Given the description of an element on the screen output the (x, y) to click on. 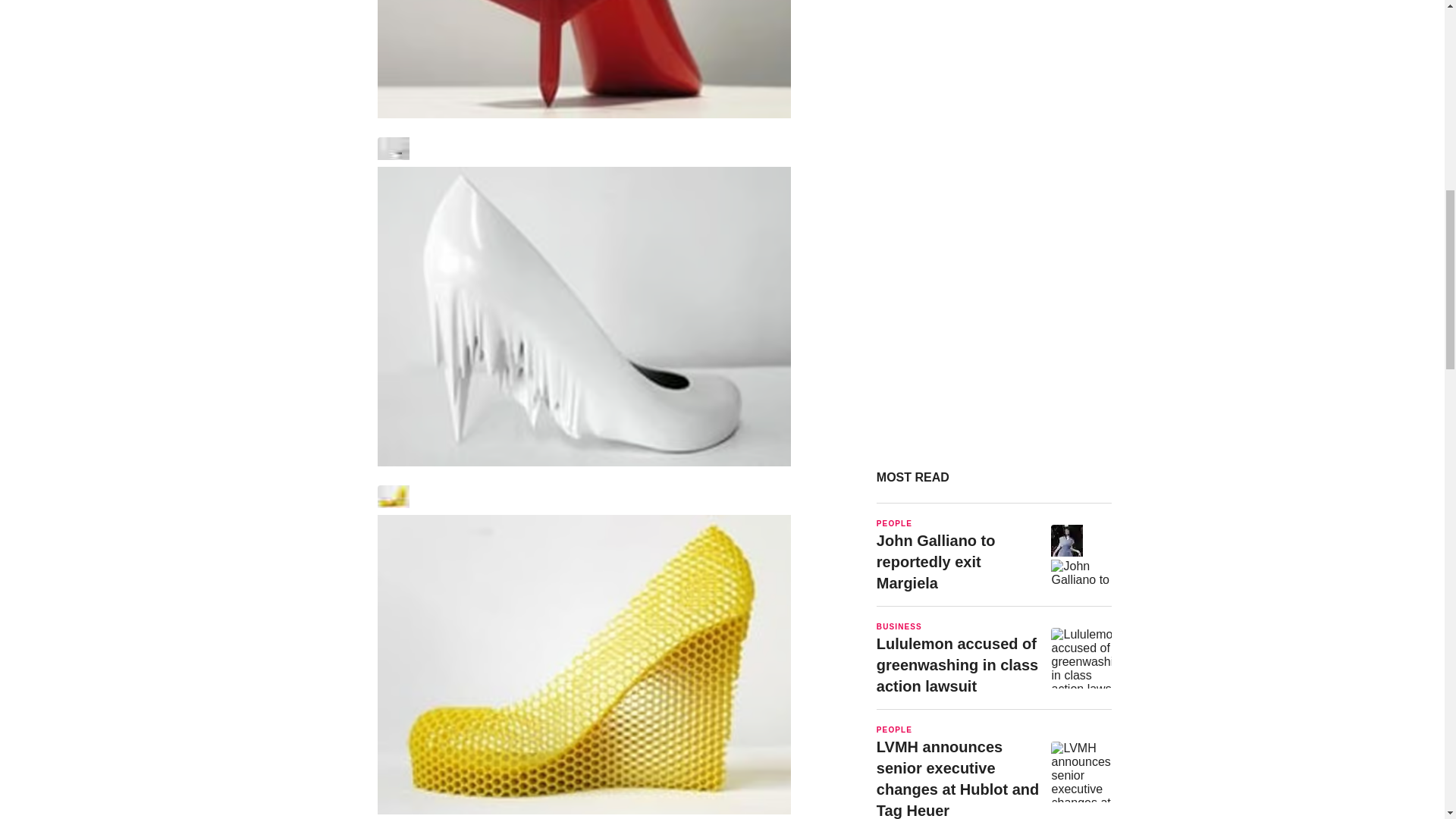
12 shoes for 12 Exes (994, 554)
